Given the description of an element on the screen output the (x, y) to click on. 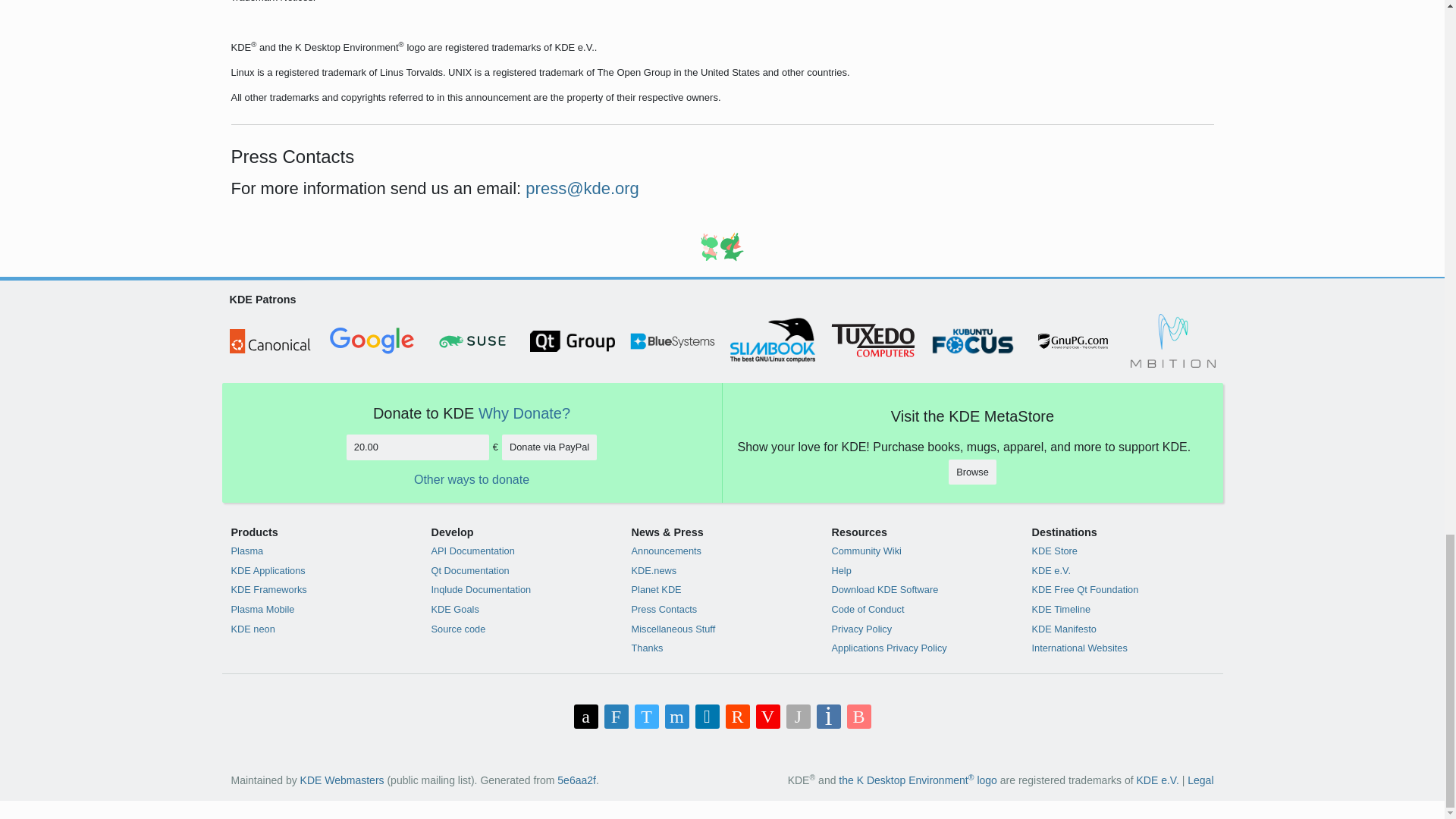
KDE Applications (321, 570)
20.00 (417, 446)
API Documentation (521, 550)
Donate via PayPal (549, 446)
KDE neon (321, 628)
Source code (521, 628)
KDE Goals (521, 608)
KDE Frameworks (321, 589)
Qt Documentation (521, 570)
Inqlude Documentation (521, 589)
Other ways to donate (471, 479)
Plasma Mobile (321, 608)
Plasma (321, 550)
Homepage of the KDE non-profit Organization (1158, 779)
Why Donate? (524, 412)
